Given the description of an element on the screen output the (x, y) to click on. 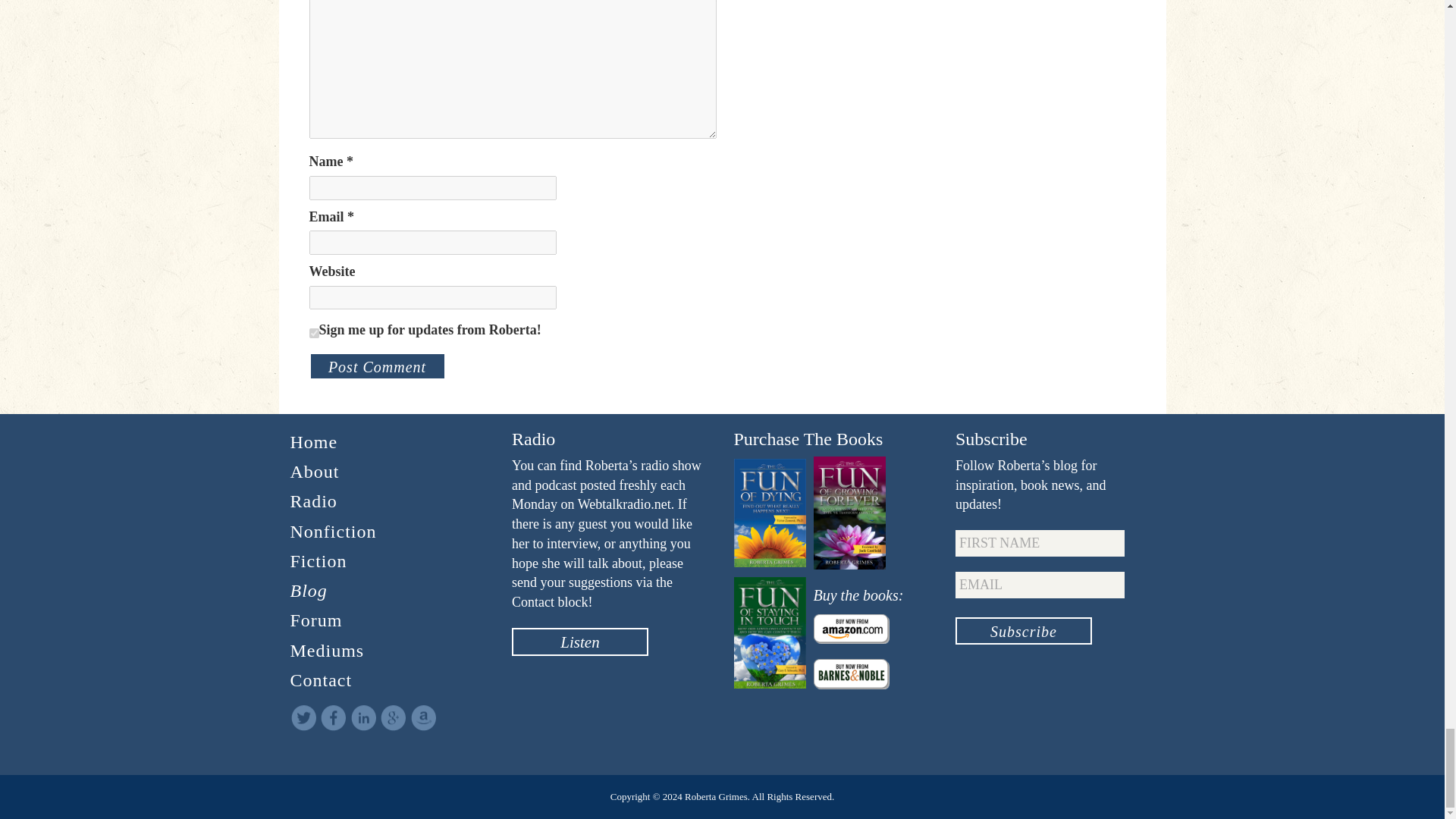
Post Comment (376, 366)
1 (313, 333)
Subscribe (1023, 630)
